Given the description of an element on the screen output the (x, y) to click on. 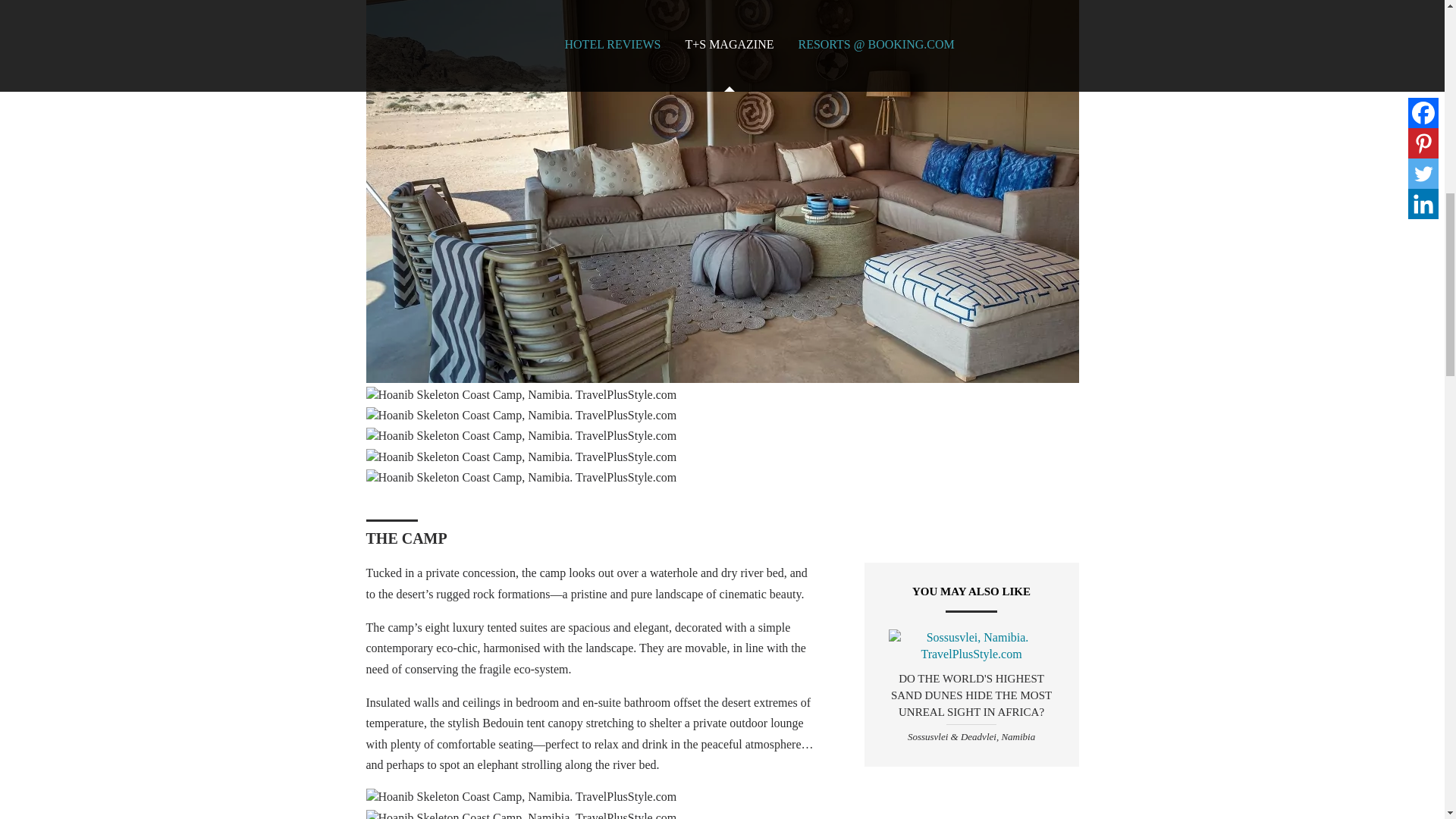
Hoanib Skeleton Coast Camp, Namibia. TravelPlusStyle.com (521, 435)
Hoanib Skeleton Coast Camp, Namibia. TravelPlusStyle.com (521, 457)
Hoanib Skeleton Coast Camp, Namibia. TravelPlusStyle.com (521, 796)
Hoanib Skeleton Coast Camp, Namibia. TravelPlusStyle.com (521, 814)
Hoanib Skeleton Coast Camp, Namibia. TravelPlusStyle.com (521, 415)
Hoanib Skeleton Coast Camp, Namibia. TravelPlusStyle.com (521, 394)
Sossusvlei, Namibia. TravelPlusStyle.com (971, 645)
Hoanib Skeleton Coast Camp, Namibia. TravelPlusStyle.com (521, 477)
